Given the description of an element on the screen output the (x, y) to click on. 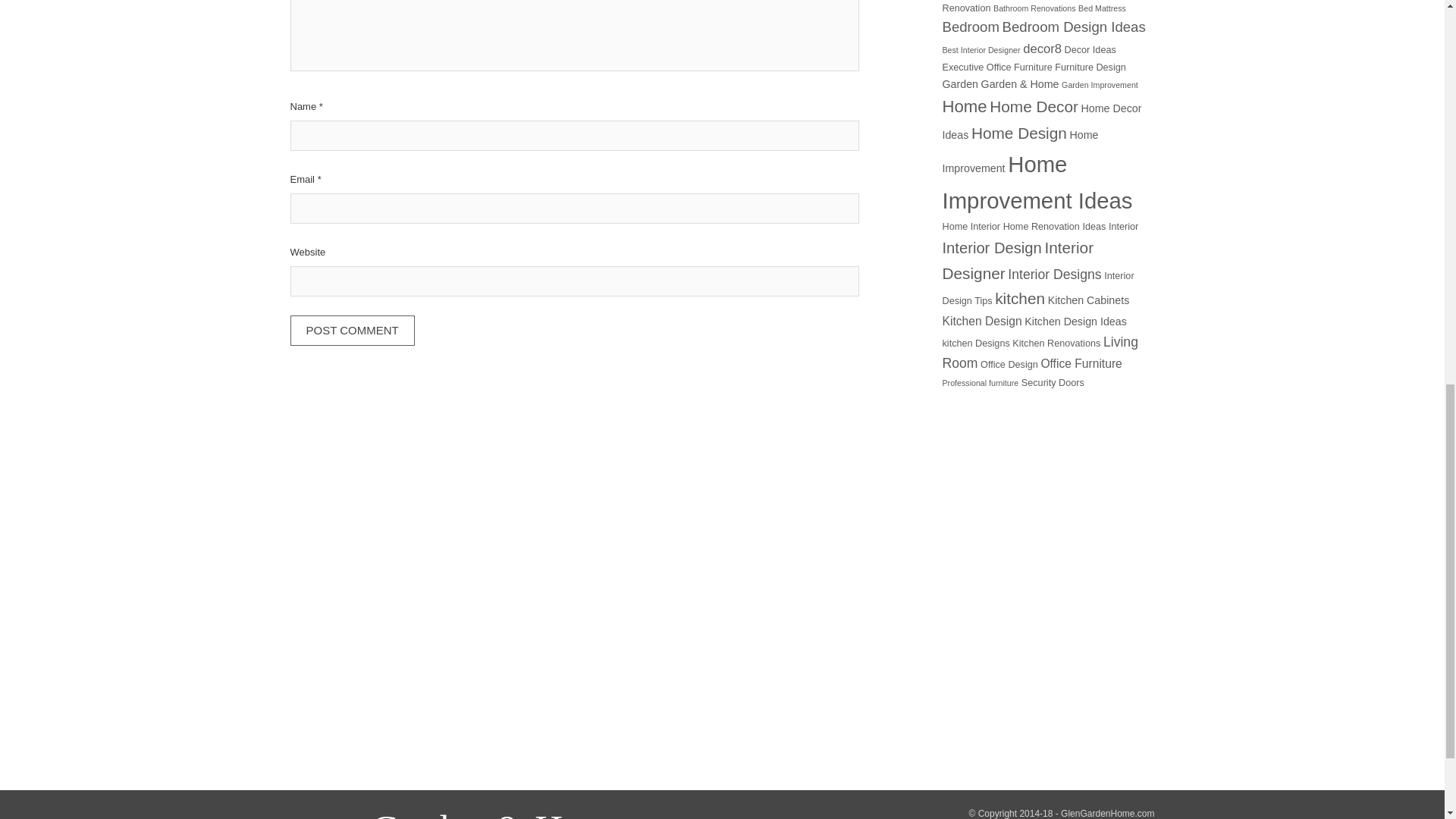
Garden (959, 83)
Bedroom Design Ideas (1074, 26)
Post Comment (351, 331)
Bed Mattress (1101, 8)
Bedroom (970, 26)
Best Interior Designer (981, 49)
Decor Ideas (1090, 50)
Post Comment (351, 330)
decor8 (1042, 48)
Furniture Design (1089, 67)
Bathroom Renovations (1033, 8)
Bathroom Renovation (1038, 6)
Executive Office Furniture (996, 67)
